Given the description of an element on the screen output the (x, y) to click on. 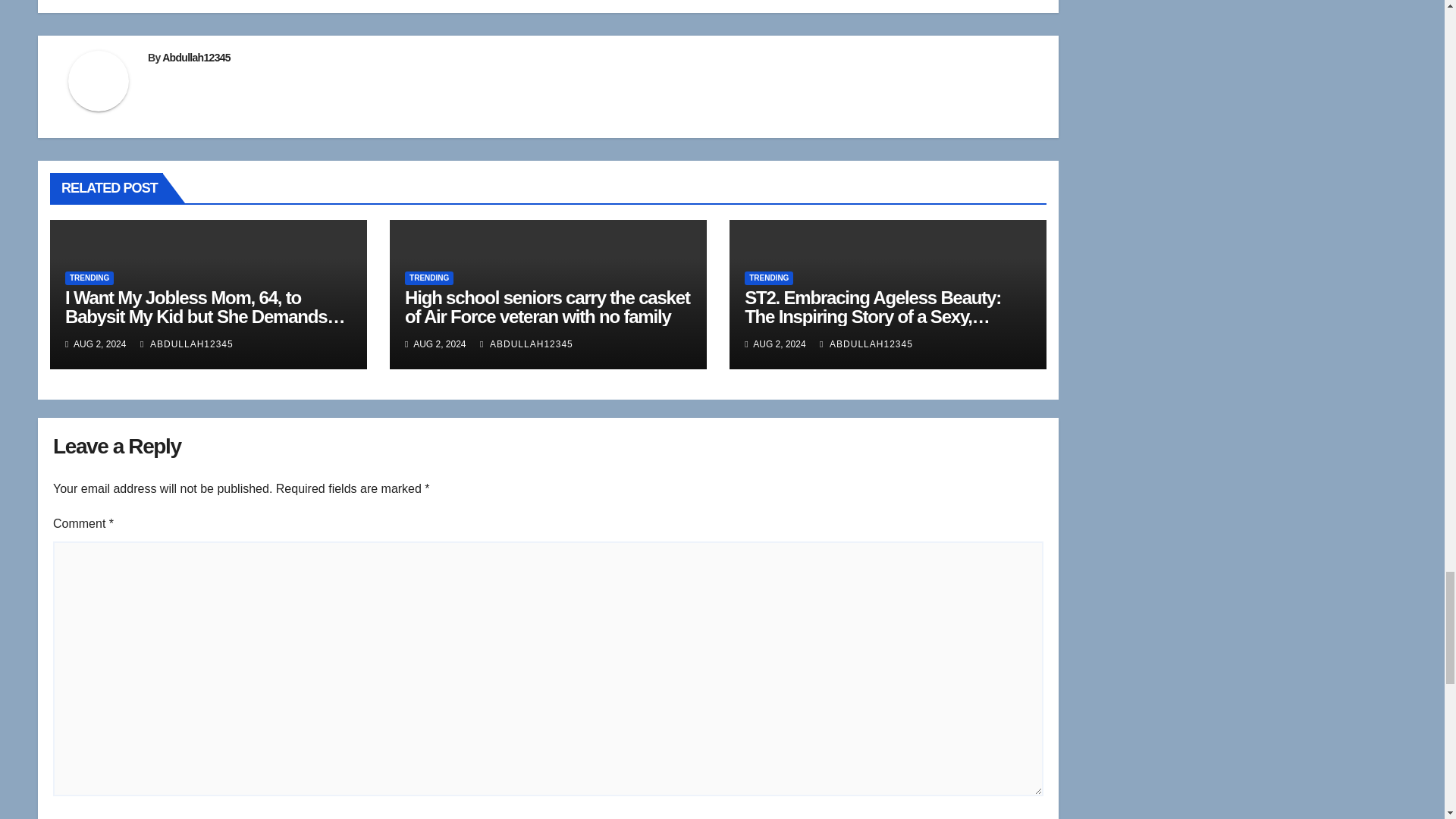
TRENDING (428, 278)
TRENDING (89, 278)
ABDULLAH12345 (185, 344)
Abdullah12345 (195, 57)
ABDULLAH12345 (526, 344)
